Given the description of an element on the screen output the (x, y) to click on. 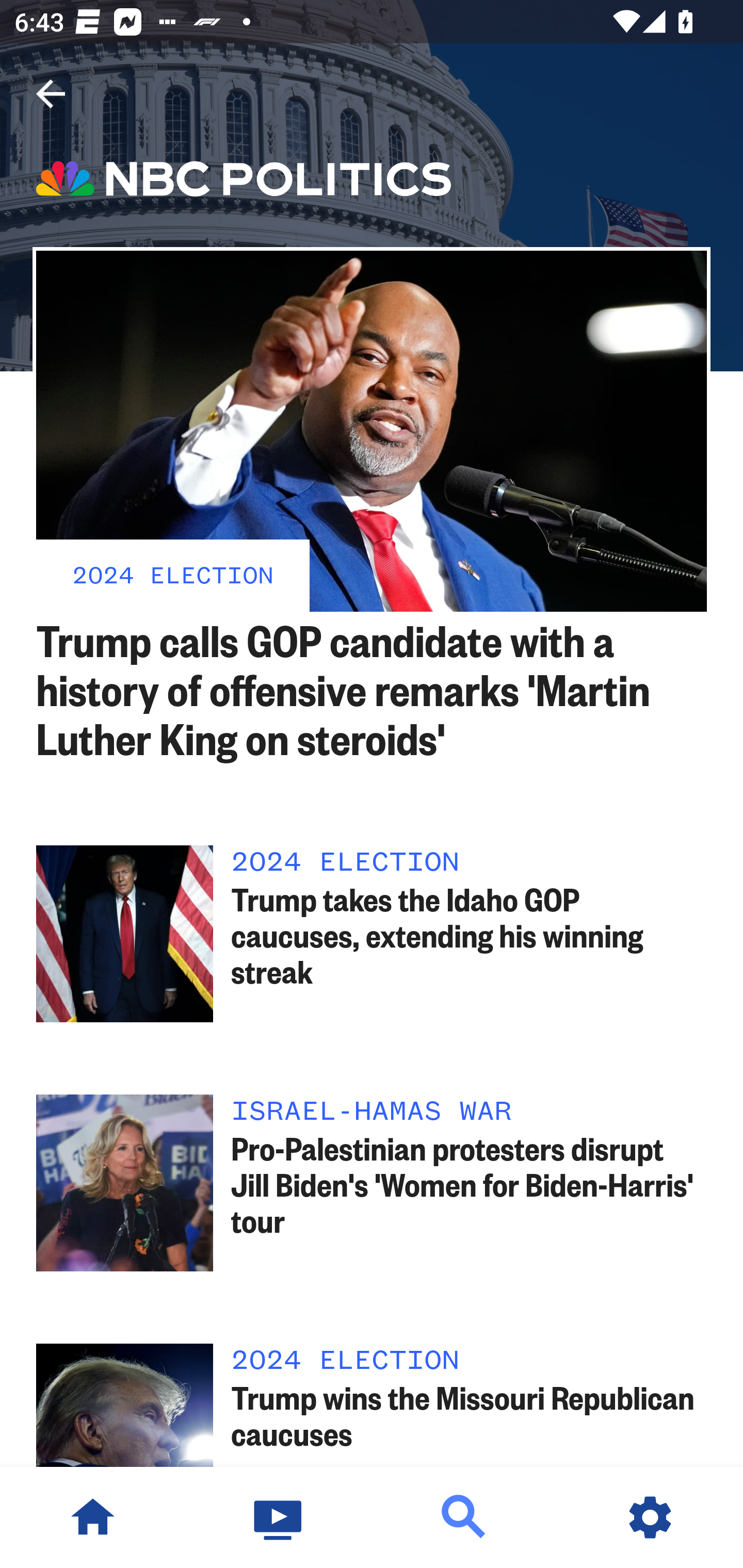
Navigate up (50, 93)
NBC News Home (92, 1517)
Watch (278, 1517)
Settings (650, 1517)
